Given the description of an element on the screen output the (x, y) to click on. 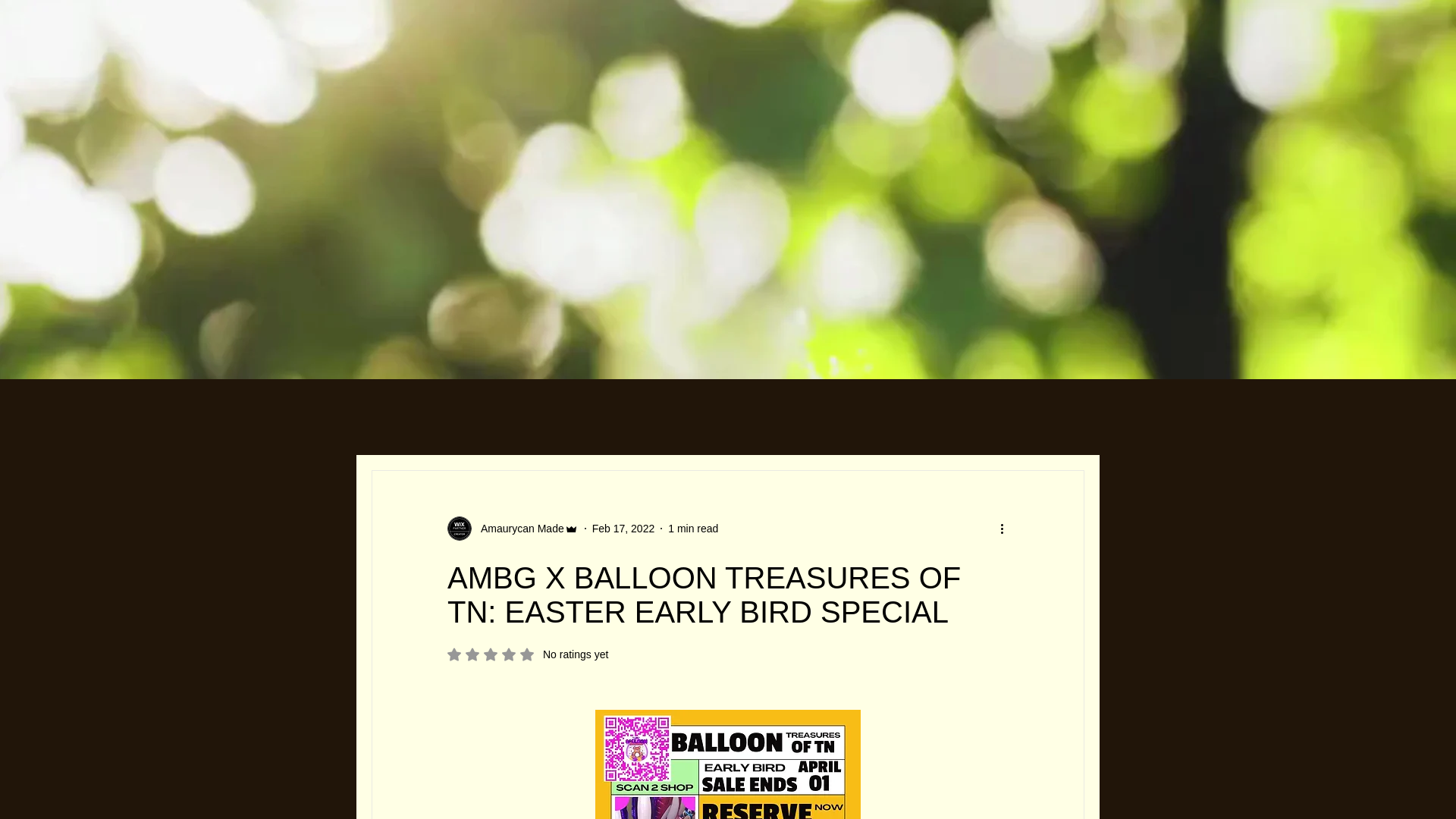
EASTER EARLY BIRD SPECIAL (727, 764)
Amaurycan Made (527, 653)
Amaurycan Made (512, 528)
1 min read (517, 528)
Feb 17, 2022 (692, 527)
